Given the description of an element on the screen output the (x, y) to click on. 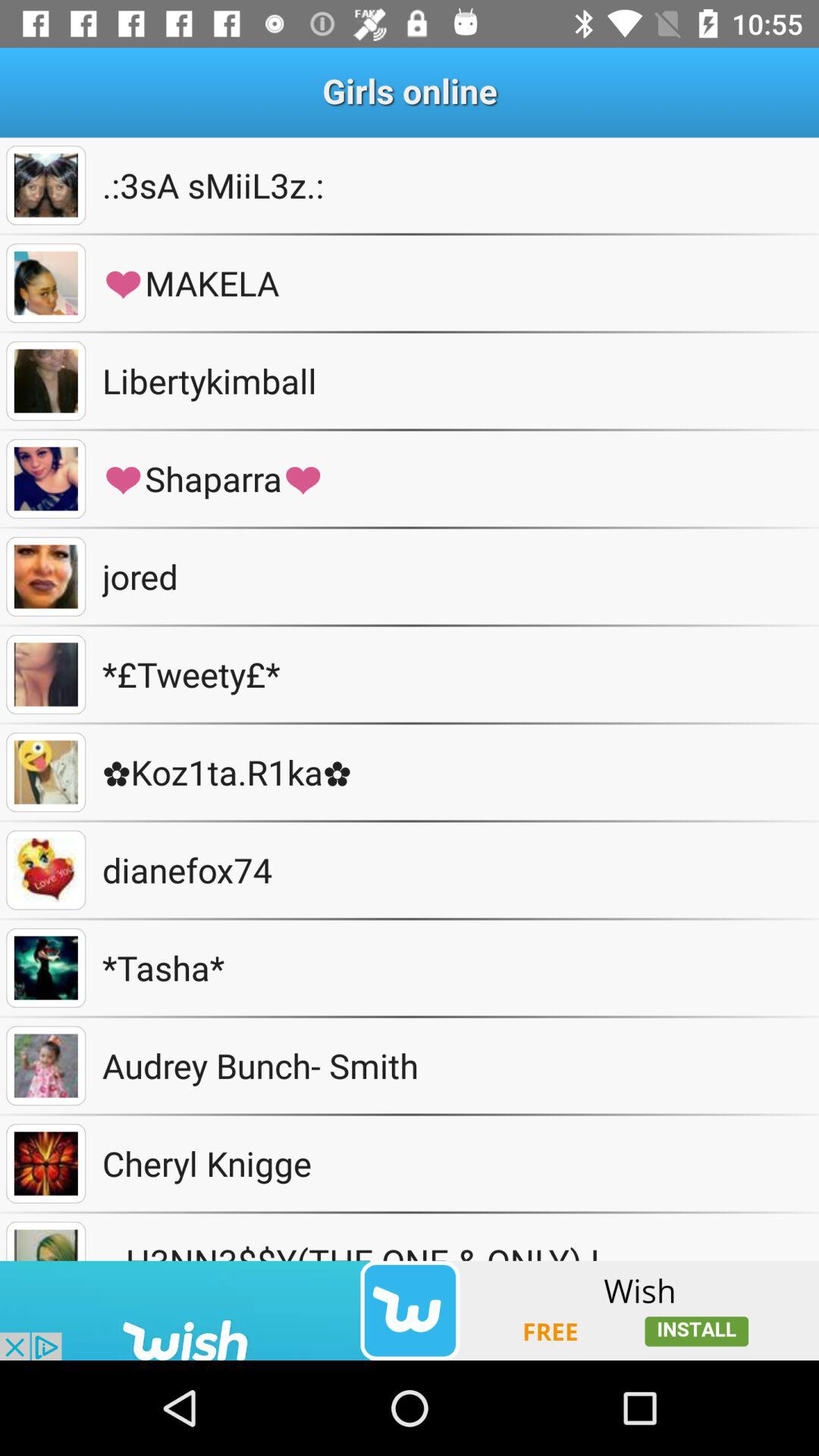
sticker like the other person (45, 870)
